Given the description of an element on the screen output the (x, y) to click on. 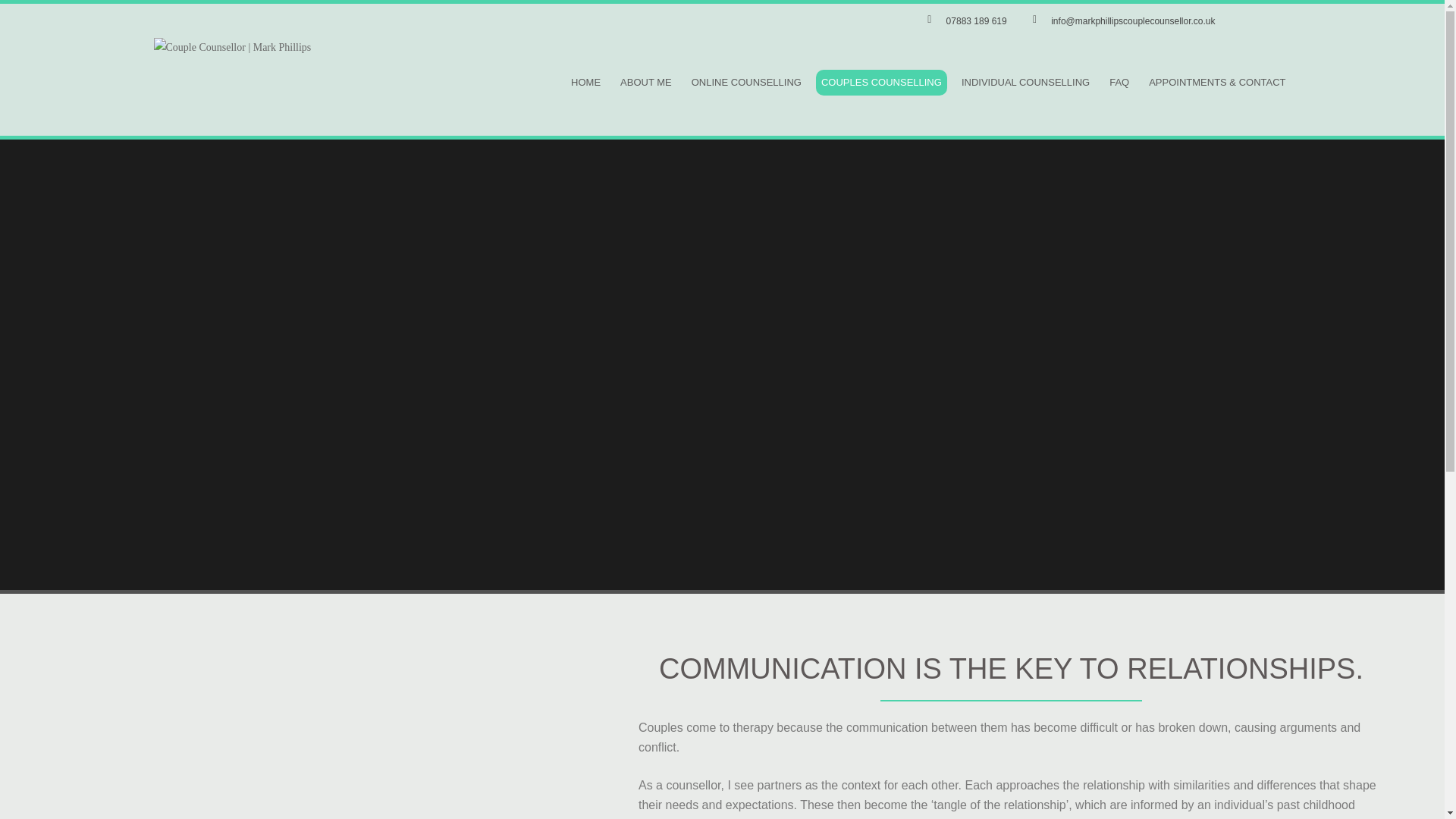
INDIVIDUAL COUNSELLING (1025, 82)
07883 189 619 (965, 21)
ONLINE COUNSELLING (745, 82)
HOME (585, 82)
COUPLES COUNSELLING (881, 82)
ABOUT ME (645, 82)
FAQ (1118, 82)
